Given the description of an element on the screen output the (x, y) to click on. 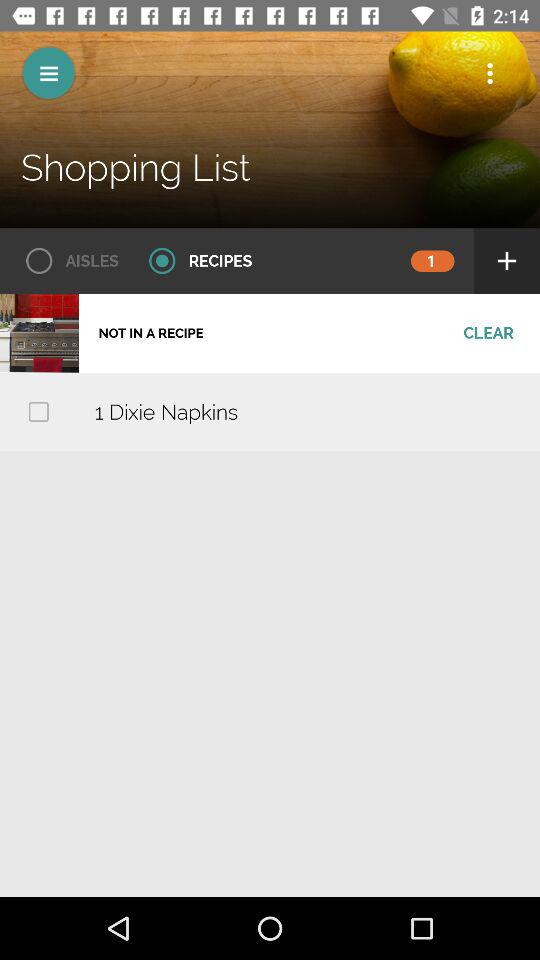
flip to clear item (488, 333)
